Given the description of an element on the screen output the (x, y) to click on. 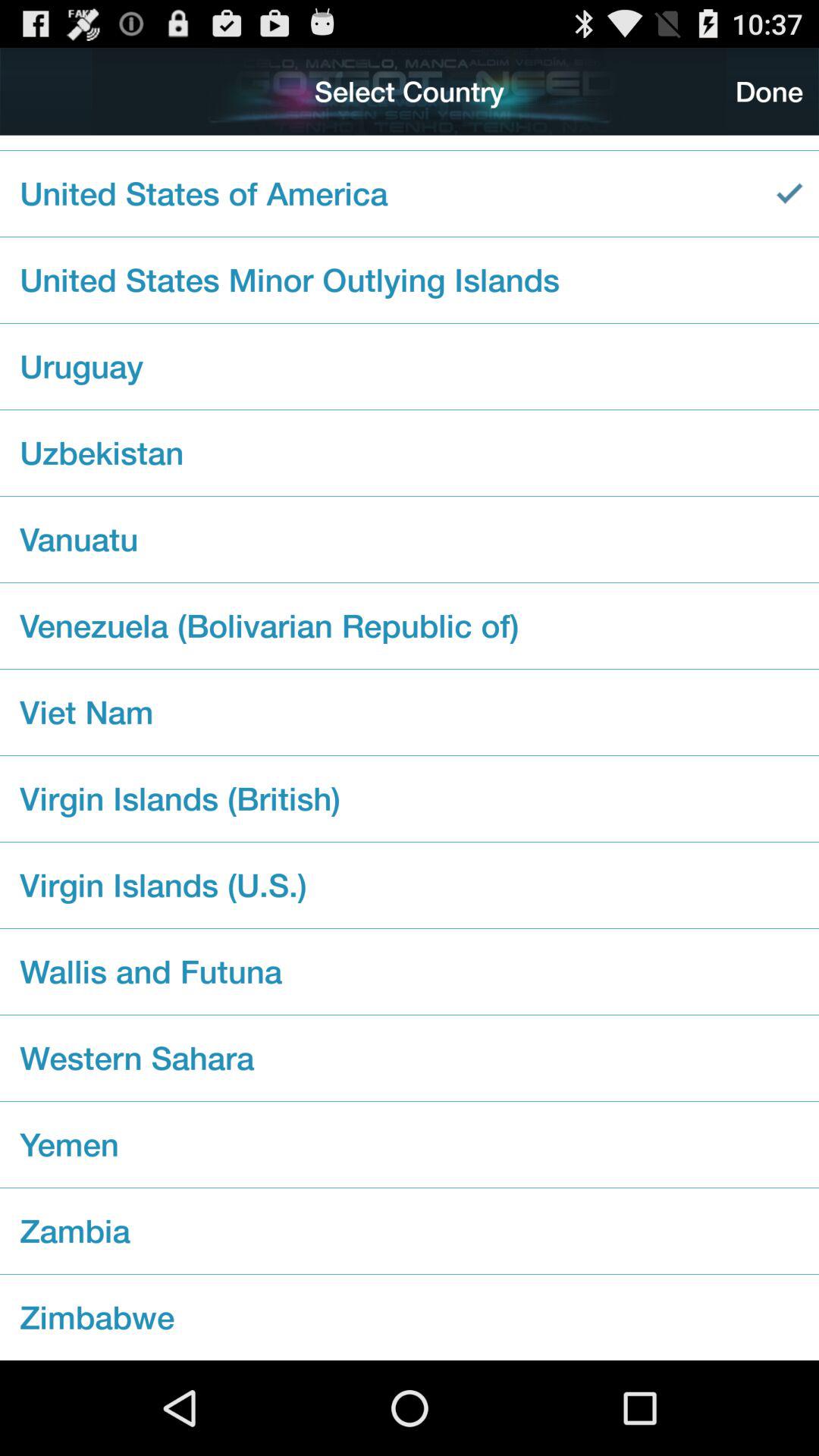
select yemen icon (409, 1144)
